Given the description of an element on the screen output the (x, y) to click on. 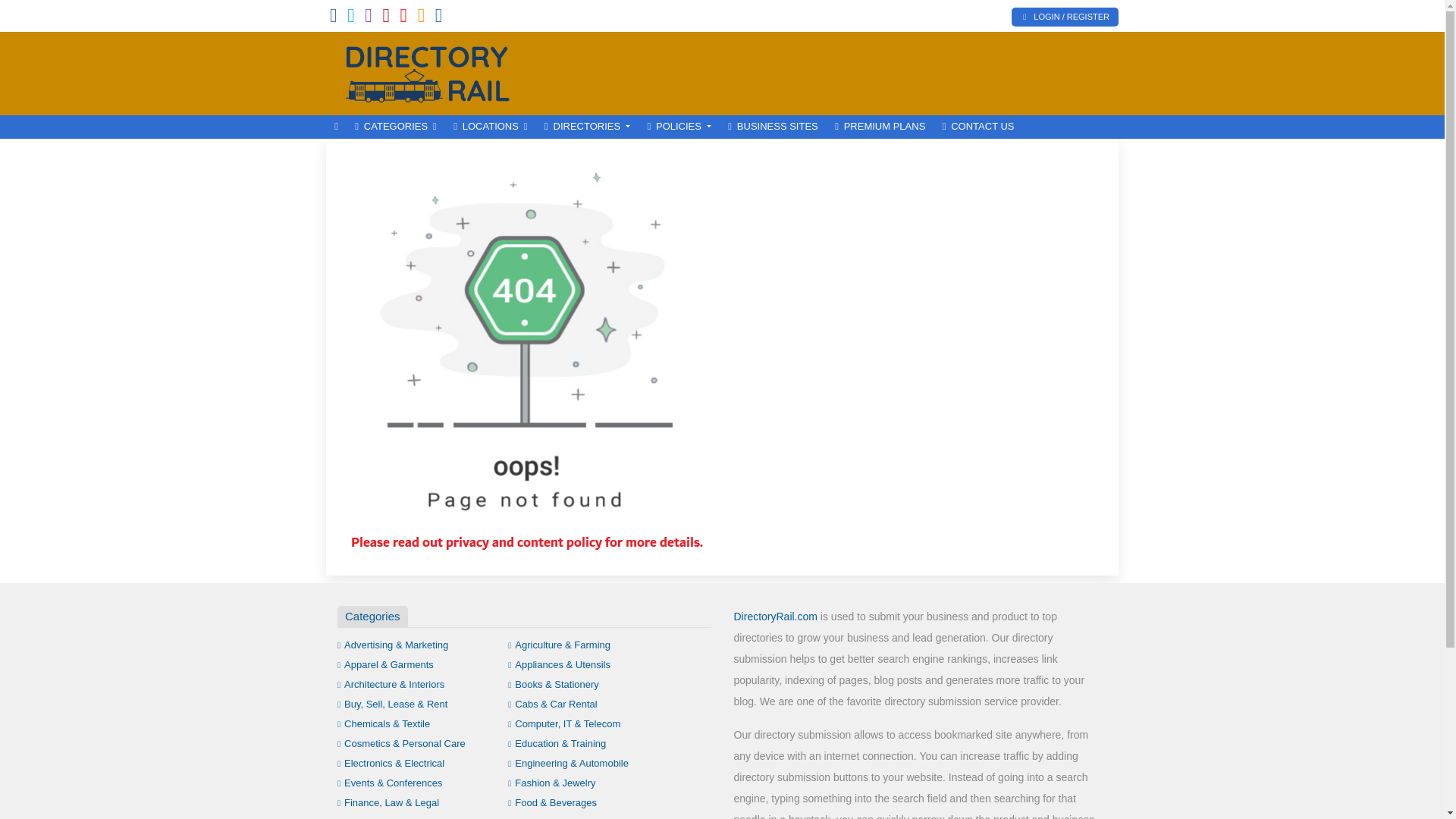
HOME (336, 126)
Instagram (368, 18)
Submit Your Business and Products to the Top Directory Site (428, 71)
Linked In (438, 18)
YouTube (403, 18)
LOCATIONS (490, 126)
Facebook (333, 18)
Twitter (351, 18)
RSS Feed (421, 18)
Pinterest (385, 18)
CATEGORIES (395, 126)
